Given the description of an element on the screen output the (x, y) to click on. 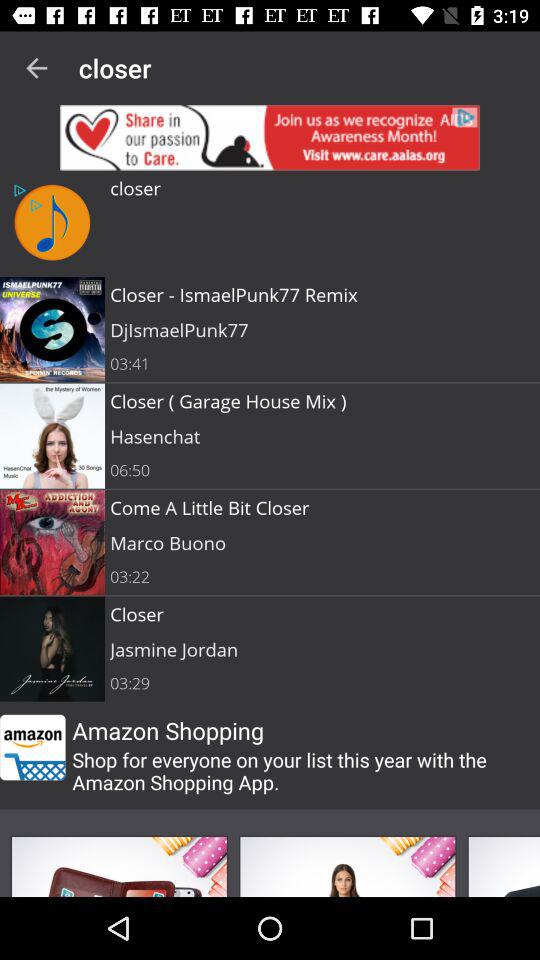
open photo (347, 866)
